Given the description of an element on the screen output the (x, y) to click on. 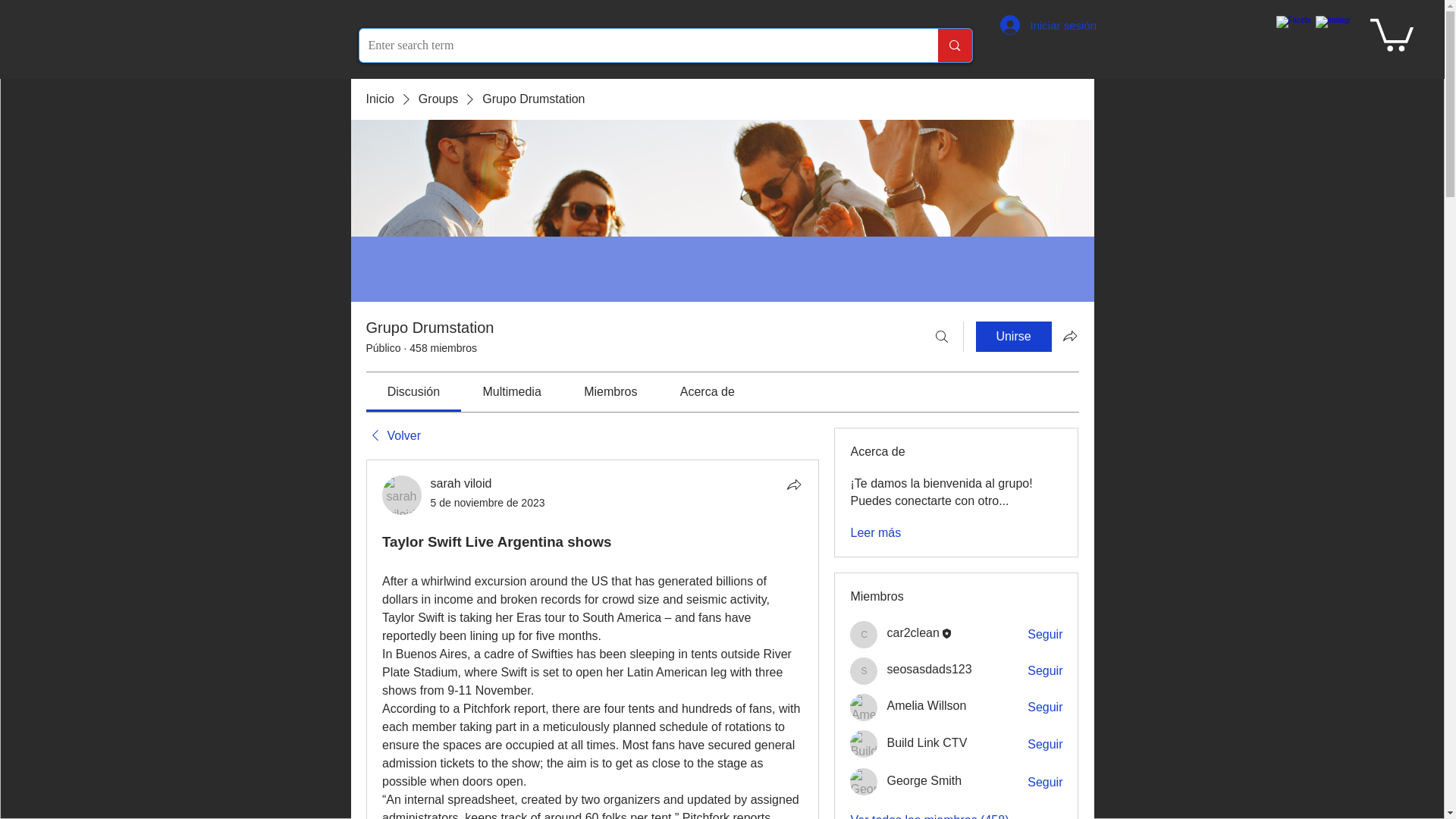
Build Link CTV (863, 743)
5 de noviembre de 2023 (487, 502)
Volver (392, 435)
Amelia Willson (863, 707)
Unirse (1013, 336)
sarah viloid (401, 495)
George Smith (863, 781)
seosasdads123 (863, 670)
Inicio (379, 98)
Groups (438, 98)
